Given the description of an element on the screen output the (x, y) to click on. 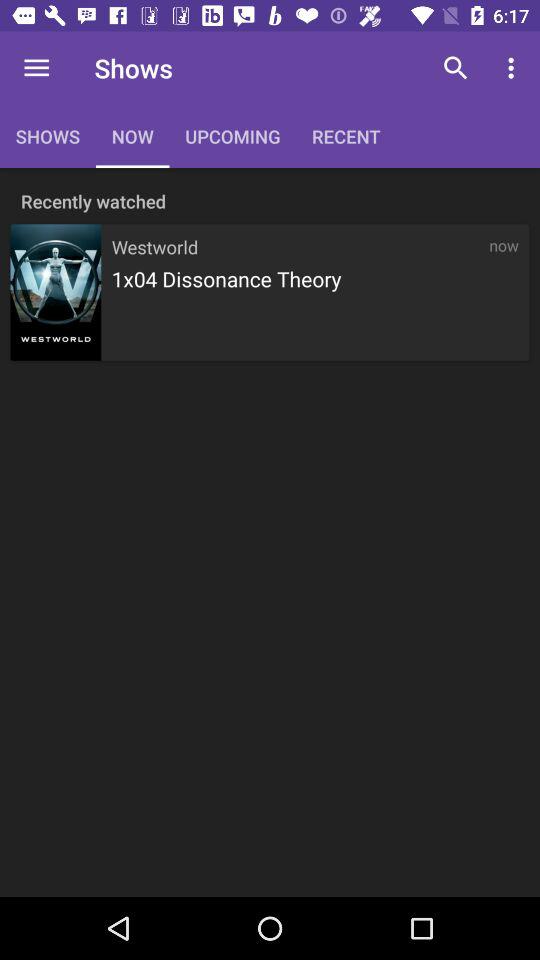
turn on icon to the left of shows (36, 68)
